Given the description of an element on the screen output the (x, y) to click on. 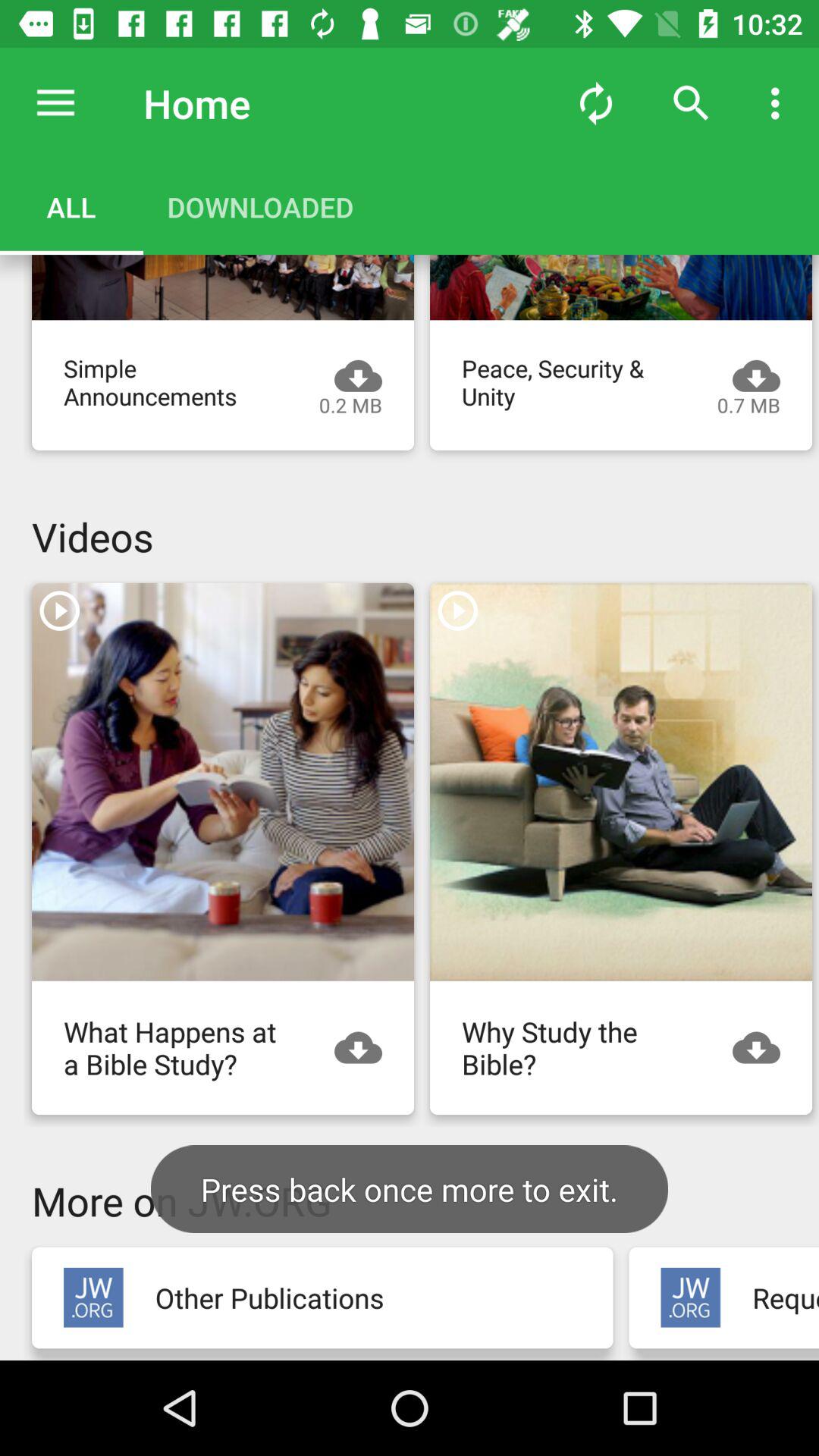
go to download (764, 1047)
